Given the description of an element on the screen output the (x, y) to click on. 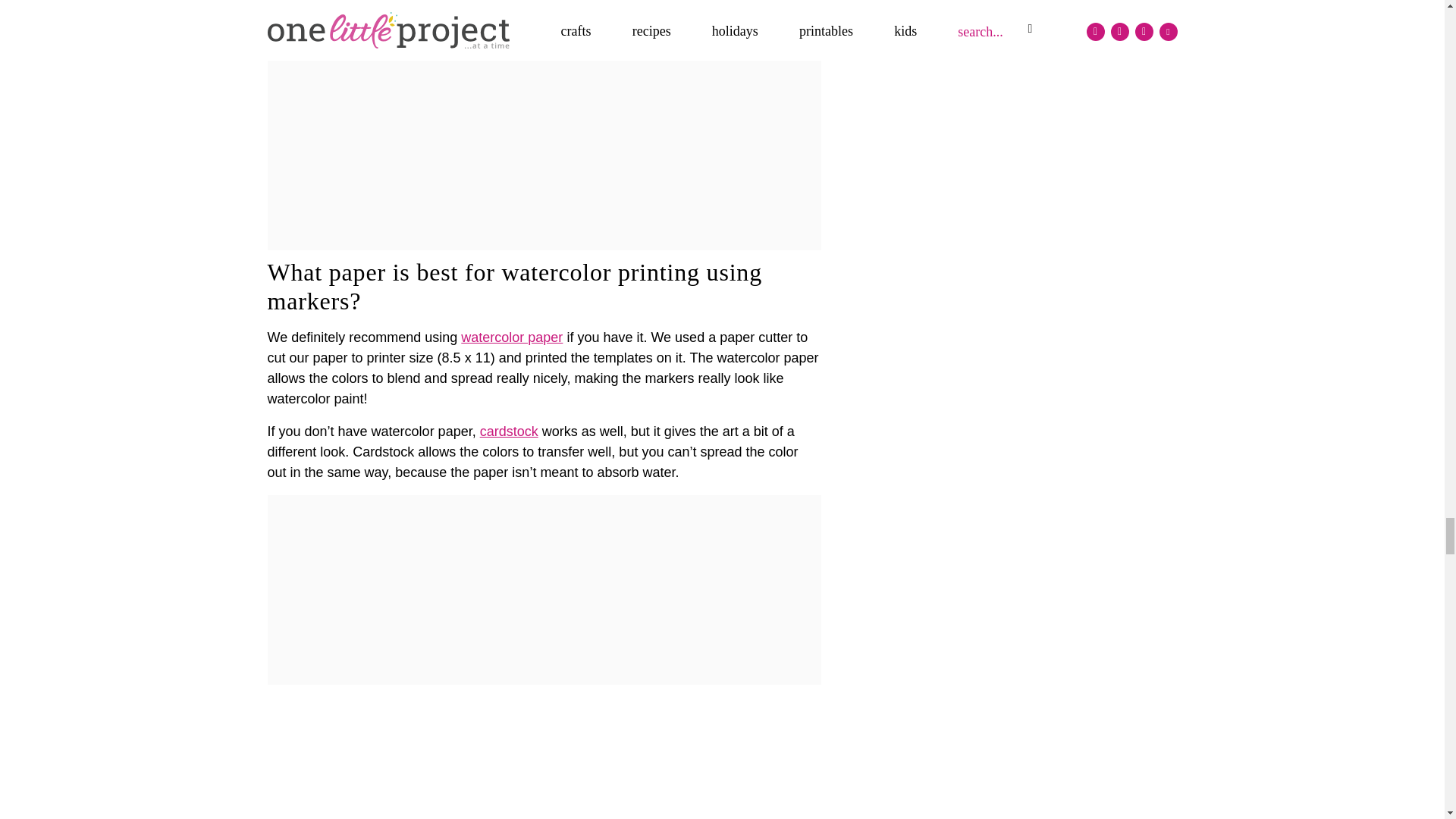
How to Make Watercolor Cards with Markers (543, 757)
